Given the description of an element on the screen output the (x, y) to click on. 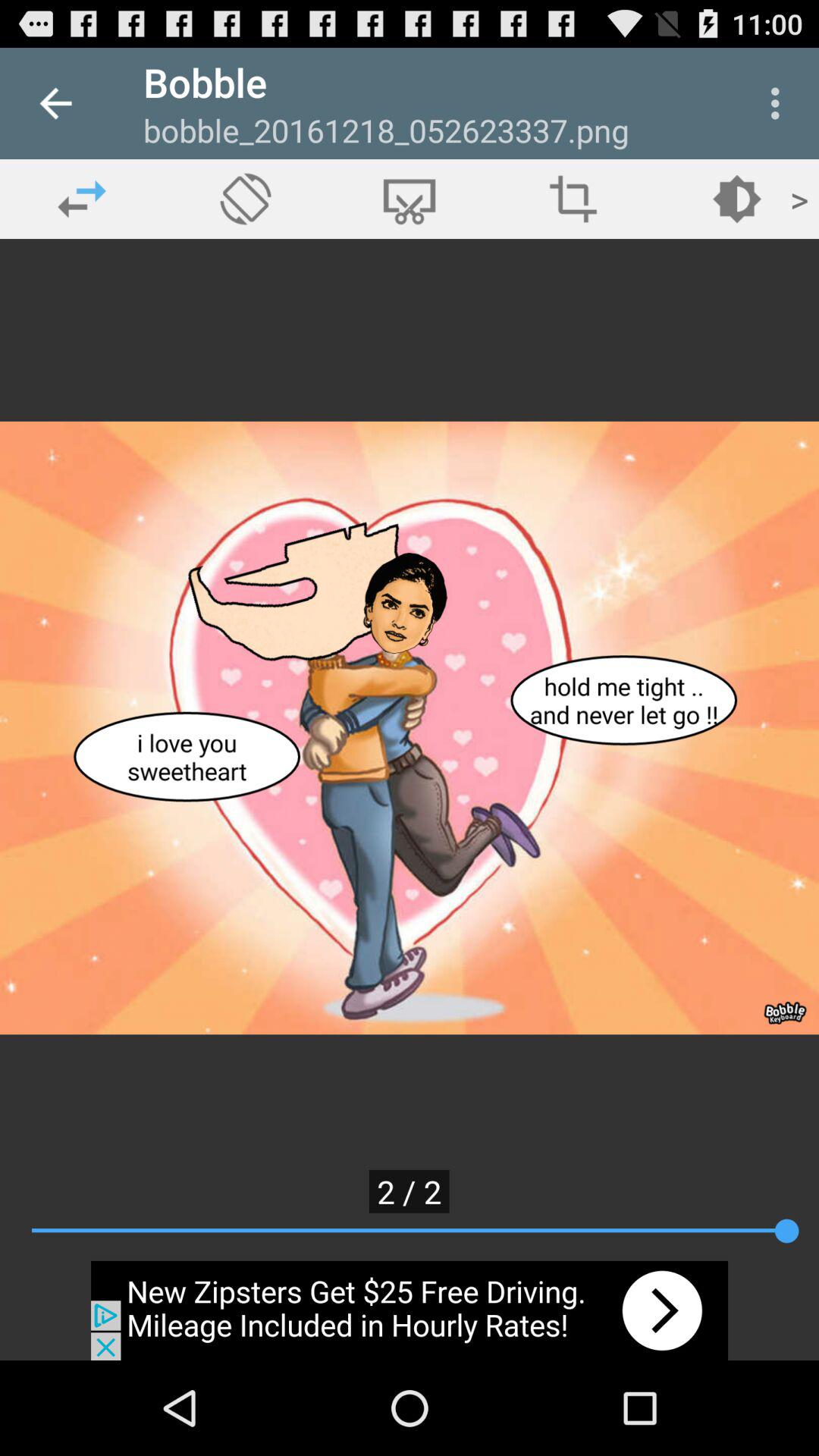
click advertisement to go to advertisement page (409, 1310)
